Given the description of an element on the screen output the (x, y) to click on. 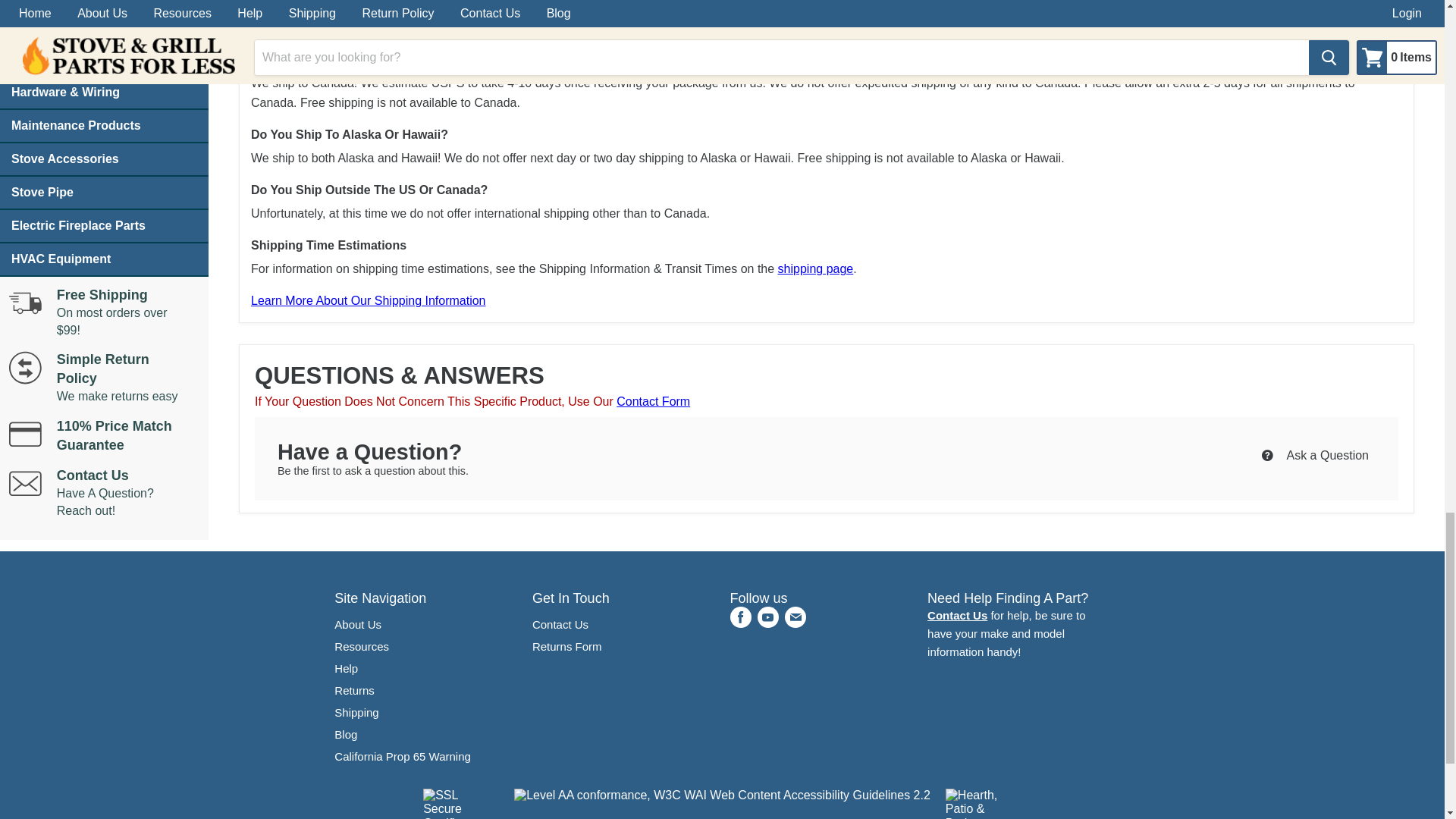
E-mail (794, 616)
Contact Page (957, 615)
Explanation of WCAG 2 Level AA conformance (721, 795)
Facebook (740, 616)
Youtube (767, 616)
